Given the description of an element on the screen output the (x, y) to click on. 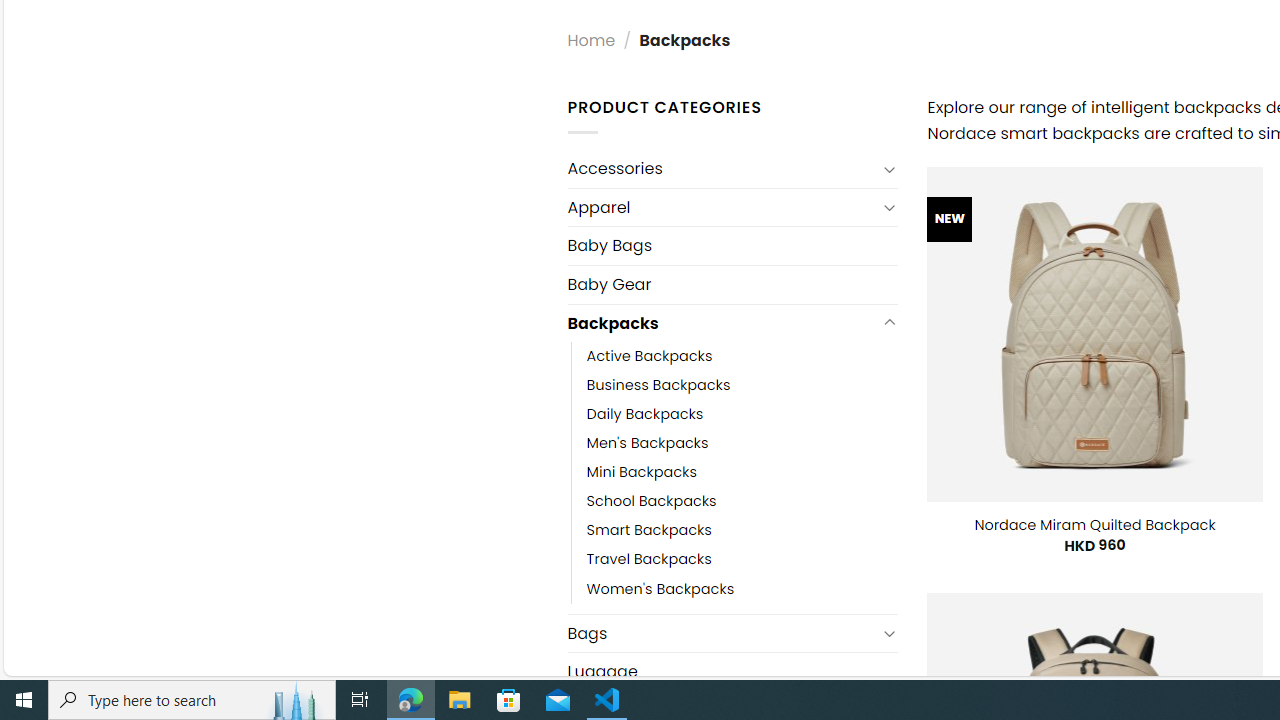
Luggage (732, 672)
Luggage (732, 671)
Women's Backpacks (660, 588)
Business Backpacks (658, 385)
Women's Backpacks (742, 588)
Business Backpacks (742, 385)
Backpacks (721, 322)
Men's Backpacks (742, 444)
Travel Backpacks (648, 560)
Apparel (721, 206)
School Backpacks (742, 501)
Baby Gear (732, 283)
Active Backpacks (742, 357)
Active Backpacks (649, 357)
